Given the description of an element on the screen output the (x, y) to click on. 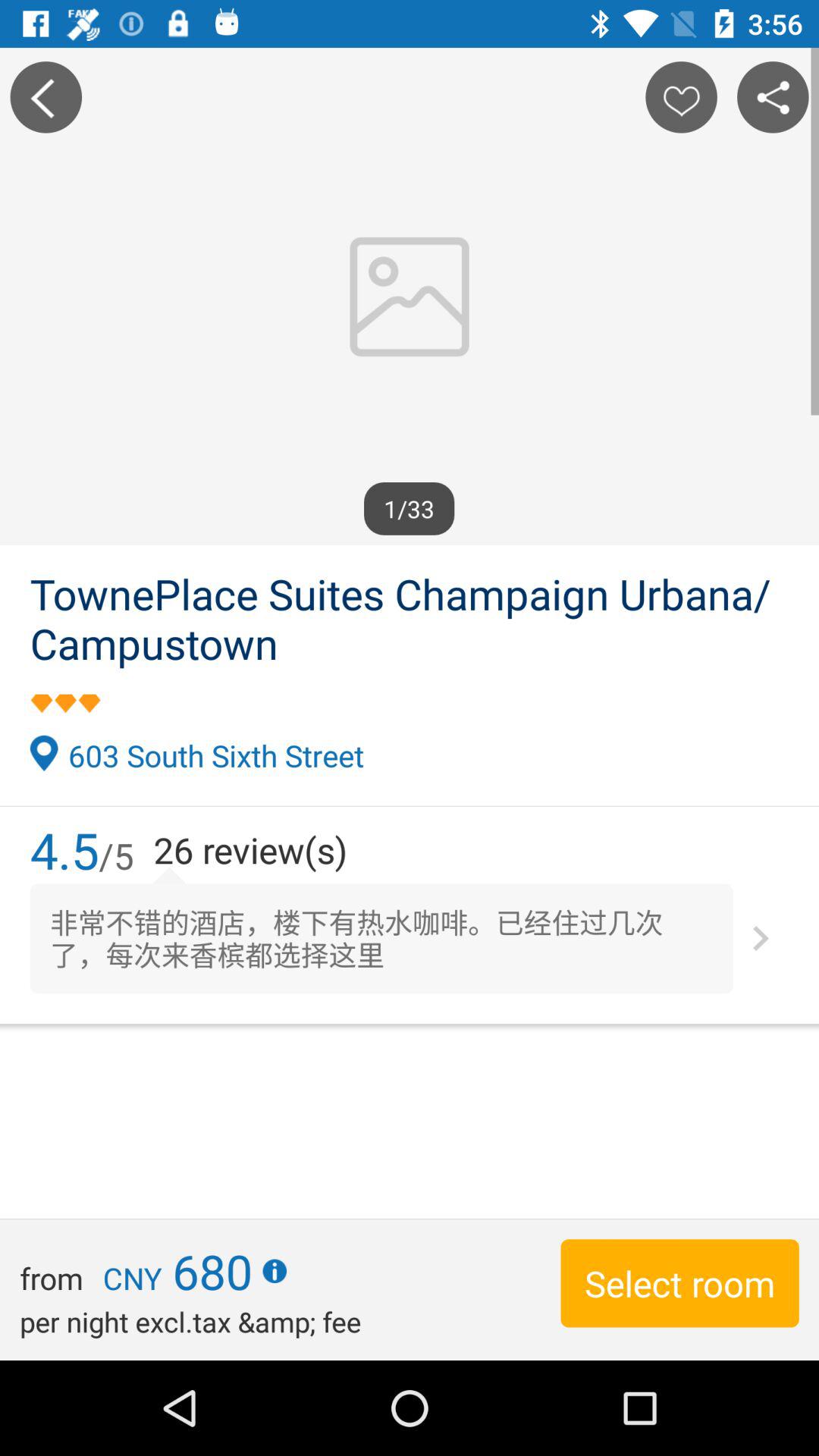
like the image (681, 97)
